Given the description of an element on the screen output the (x, y) to click on. 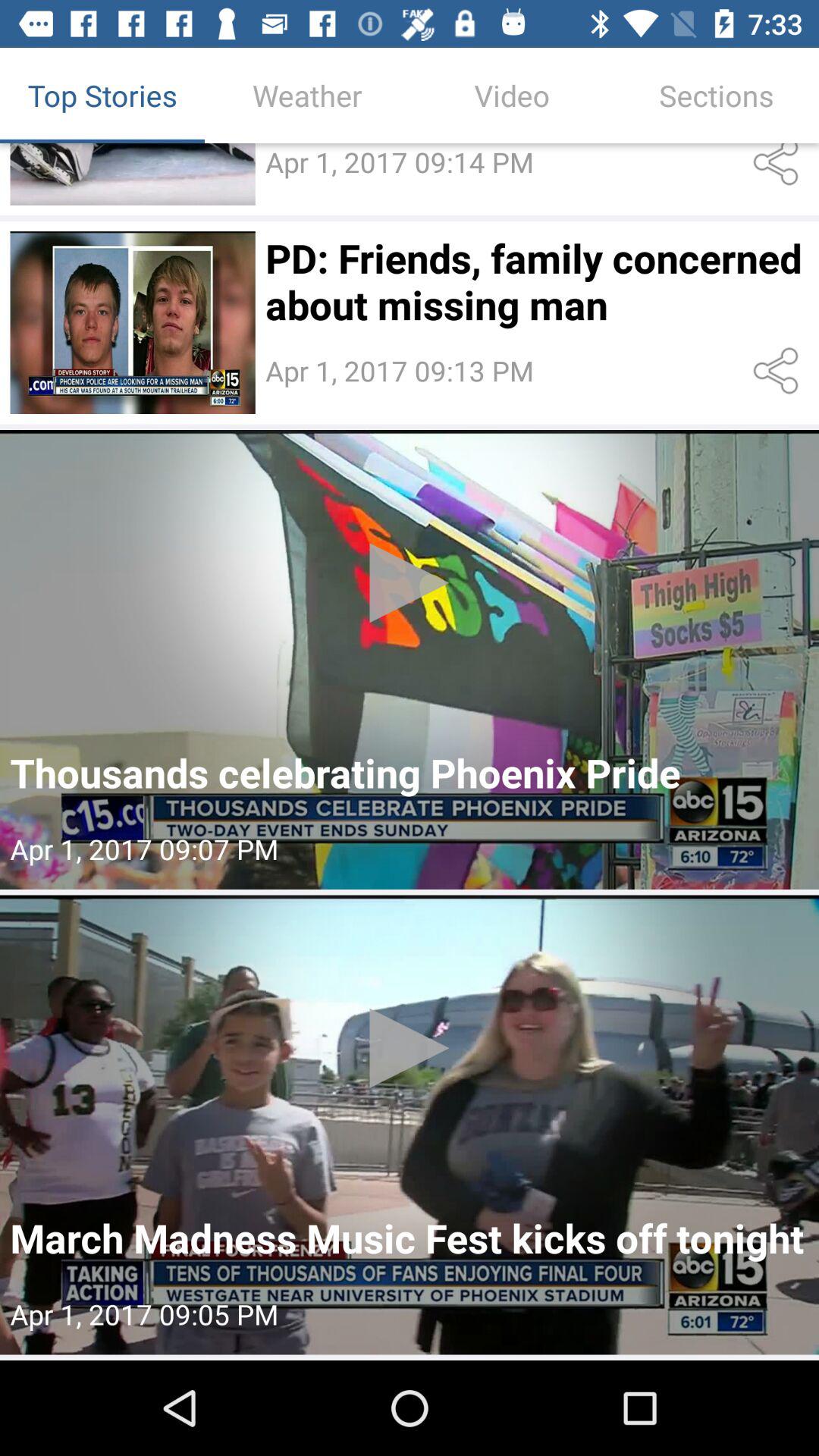
click to share (778, 370)
